Given the description of an element on the screen output the (x, y) to click on. 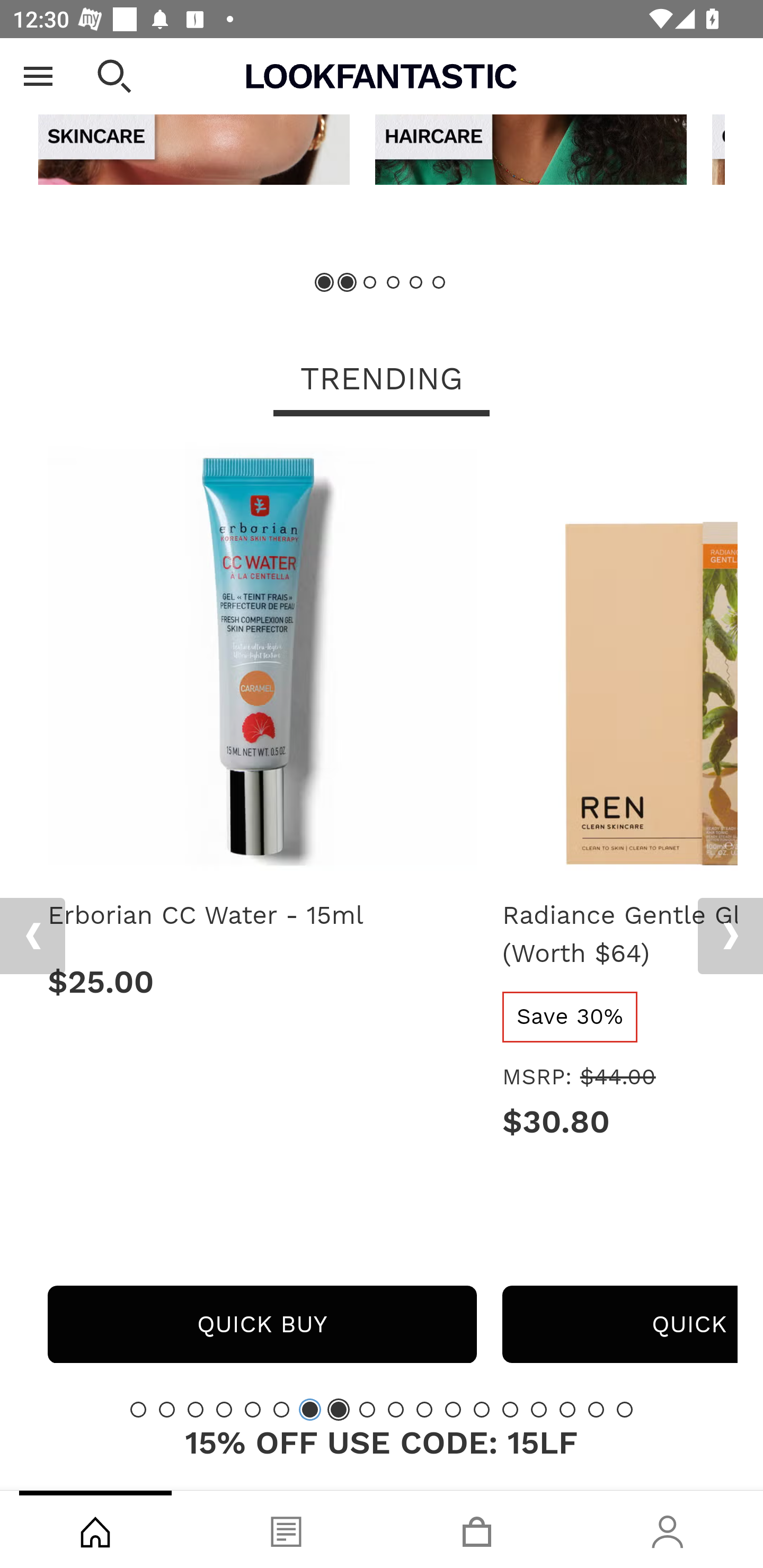
Previous (35, 64)
Showing Slide 1 (Current Item) (324, 282)
Showing Slide 2 (Current Item) (347, 282)
Slide 3 (369, 282)
Slide 4 (393, 282)
Slide 5 (415, 282)
Slide 6 (437, 282)
TRENDING (381, 381)
Erborian CC Water - 15ml (261, 663)
Erborian CC Water - 15ml (261, 916)
Previous (32, 936)
Next (730, 936)
Price: $25.00 (261, 982)
Save 30%, read more (570, 1017)
Slide 1 (138, 1410)
Slide 2 (166, 1410)
Slide 3 (195, 1410)
Slide 4 (223, 1410)
Slide 5 (252, 1410)
Slide 6 (281, 1410)
Showing Slide 7 (Current Item) (310, 1410)
Showing Slide 8 (Current Item) (338, 1410)
Slide 9 (367, 1410)
Slide 10 (395, 1410)
Slide 11 (424, 1410)
Slide 12 (452, 1410)
Slide 13 (481, 1410)
Slide 14 (510, 1410)
Slide 15 (539, 1410)
Slide 16 (567, 1410)
Slide 17 (596, 1410)
Slide 18 (624, 1410)
Shop, tab, 1 of 4 (95, 1529)
Blog, tab, 2 of 4 (285, 1529)
Basket, tab, 3 of 4 (476, 1529)
Account, tab, 4 of 4 (667, 1529)
